Given the description of an element on the screen output the (x, y) to click on. 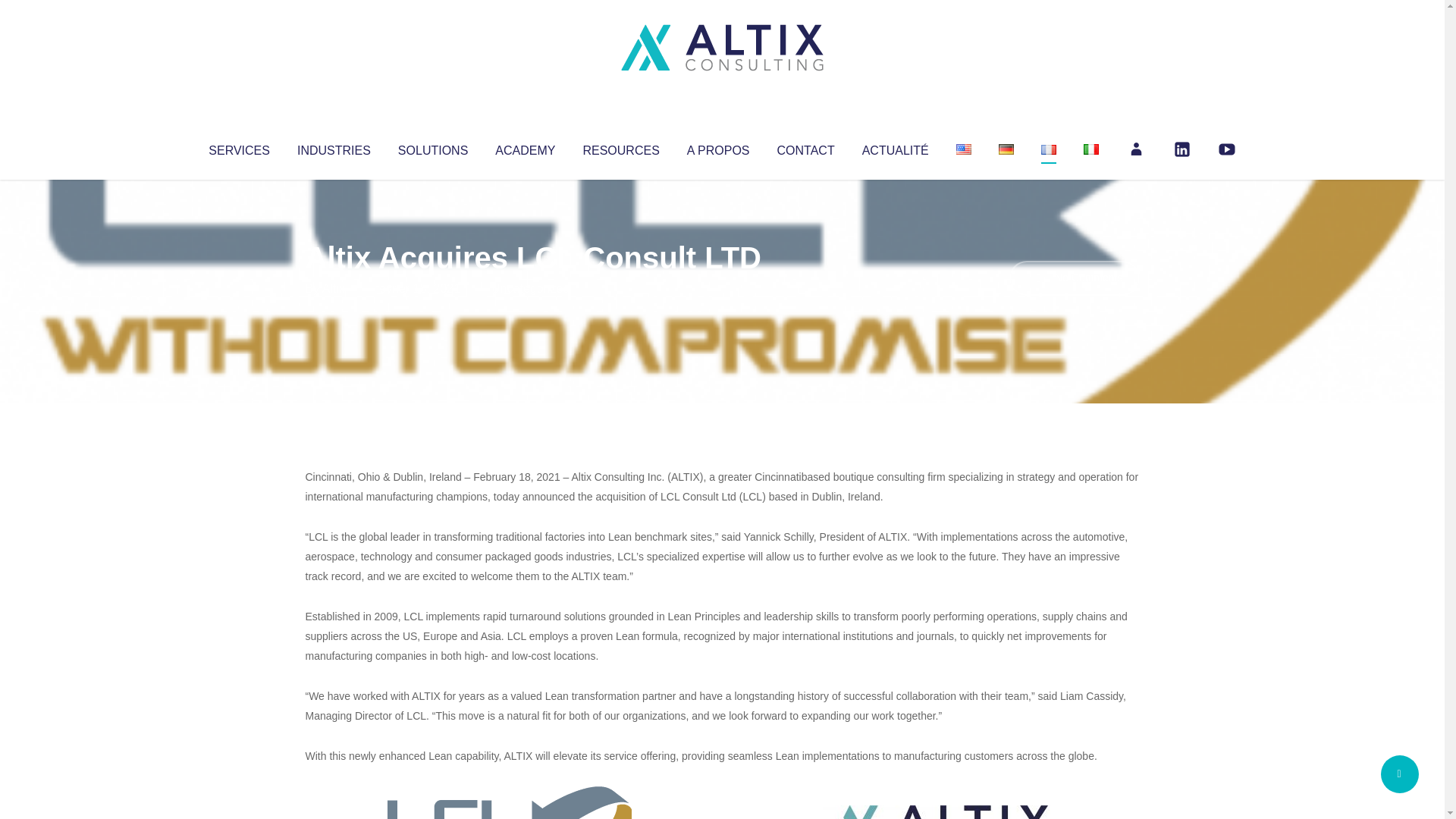
No Comments (1073, 278)
Articles par Altix (333, 287)
A PROPOS (718, 146)
ACADEMY (524, 146)
Uncategorized (530, 287)
Altix (333, 287)
SOLUTIONS (432, 146)
INDUSTRIES (334, 146)
SERVICES (238, 146)
RESOURCES (620, 146)
